Given the description of an element on the screen output the (x, y) to click on. 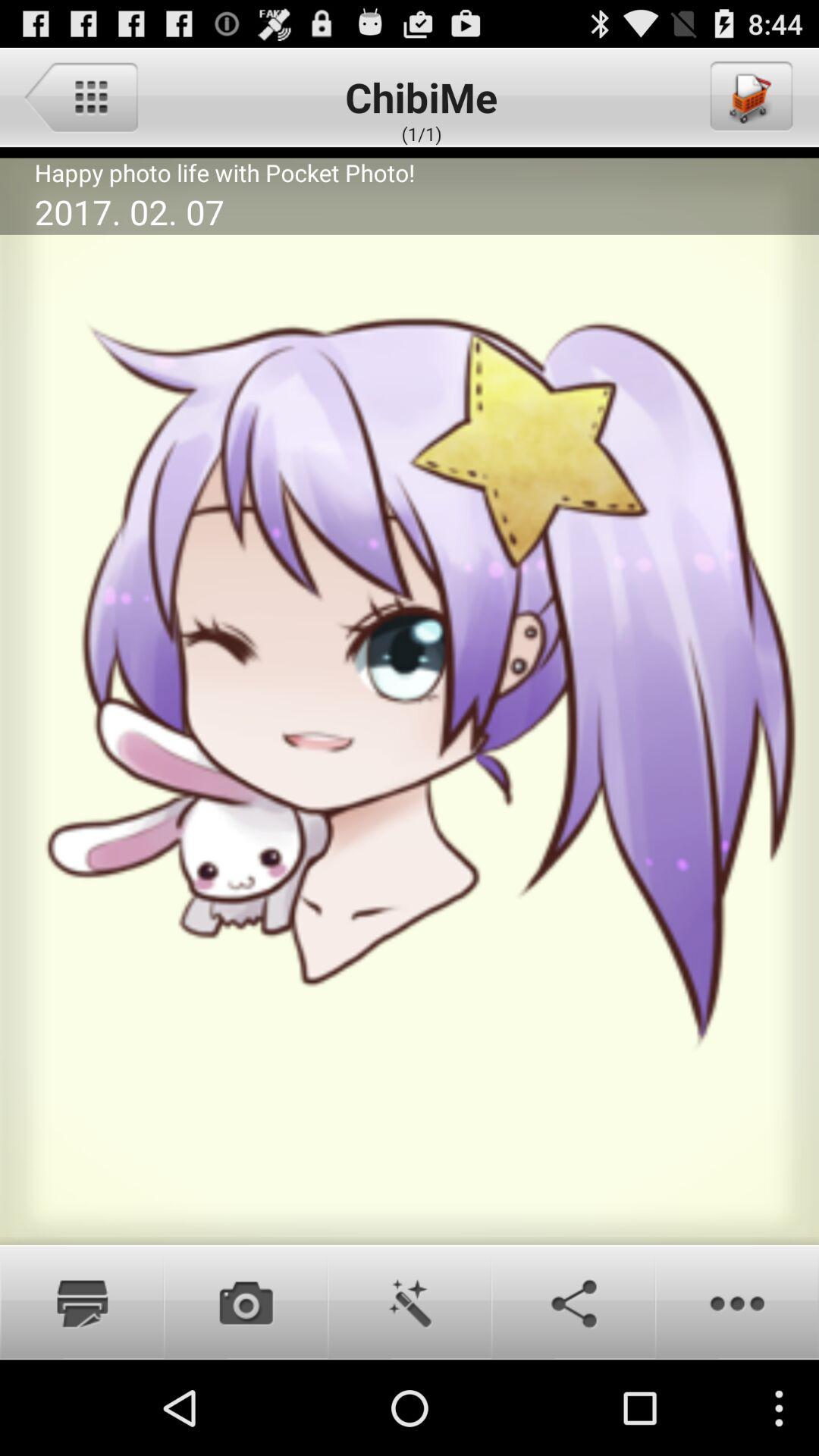
back to menu (80, 96)
